Given the description of an element on the screen output the (x, y) to click on. 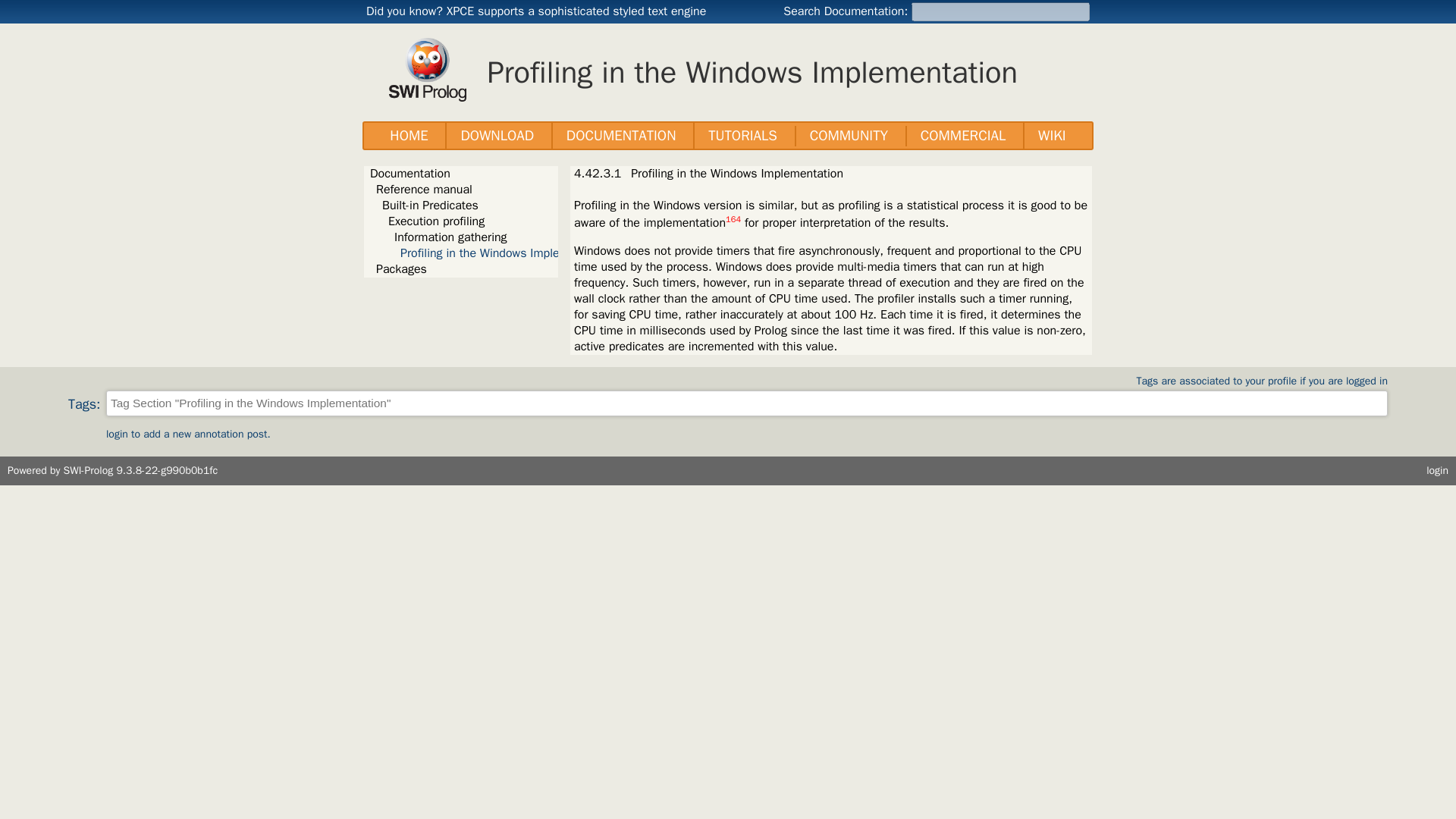
COMMUNITY (848, 136)
HOME (409, 136)
SWI-Prolog owl logo (426, 69)
